Given the description of an element on the screen output the (x, y) to click on. 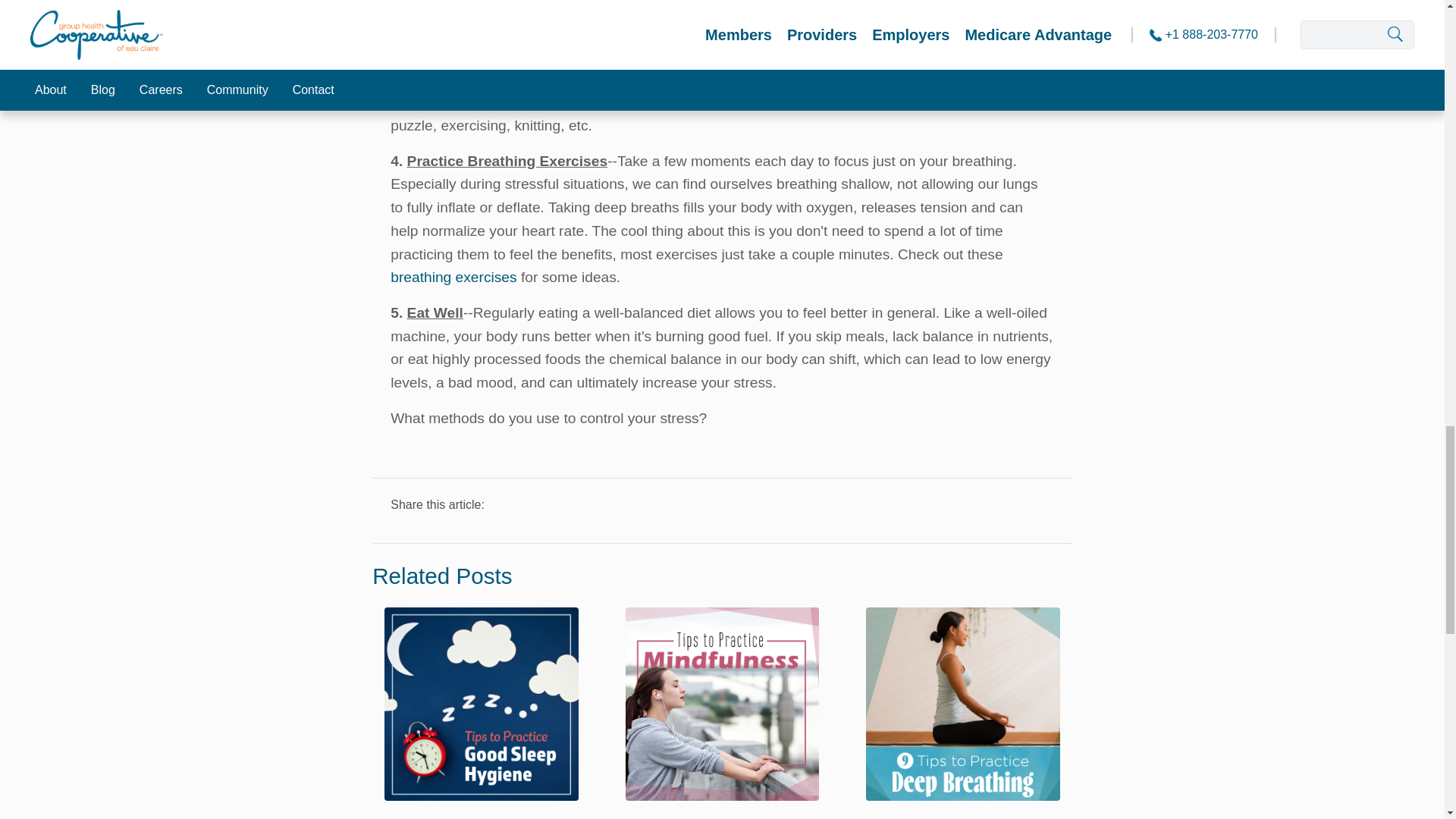
breathing exercises (453, 277)
Time Blocking (480, 707)
